Given the description of an element on the screen output the (x, y) to click on. 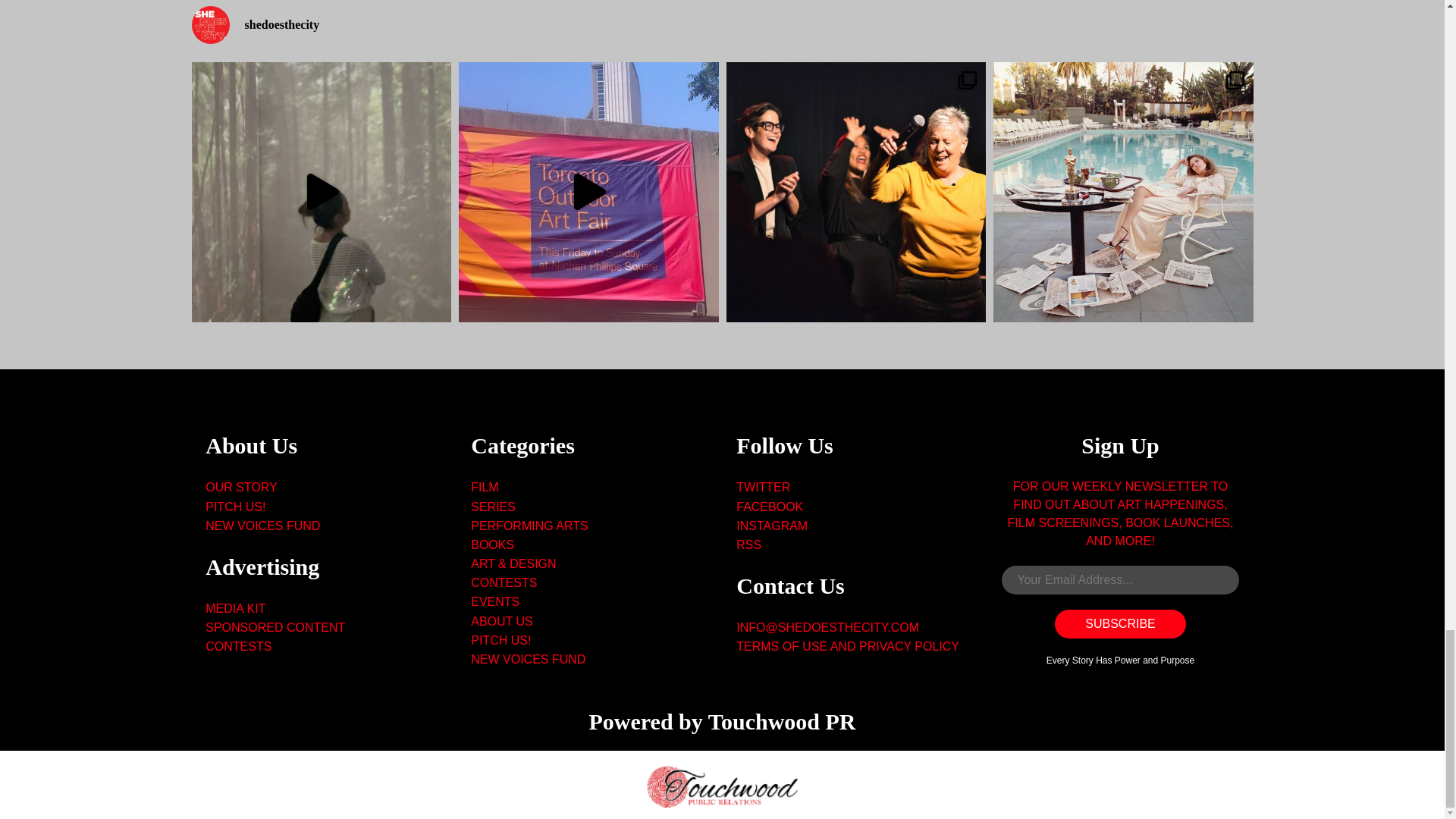
Subscribe (1119, 623)
